Given the description of an element on the screen output the (x, y) to click on. 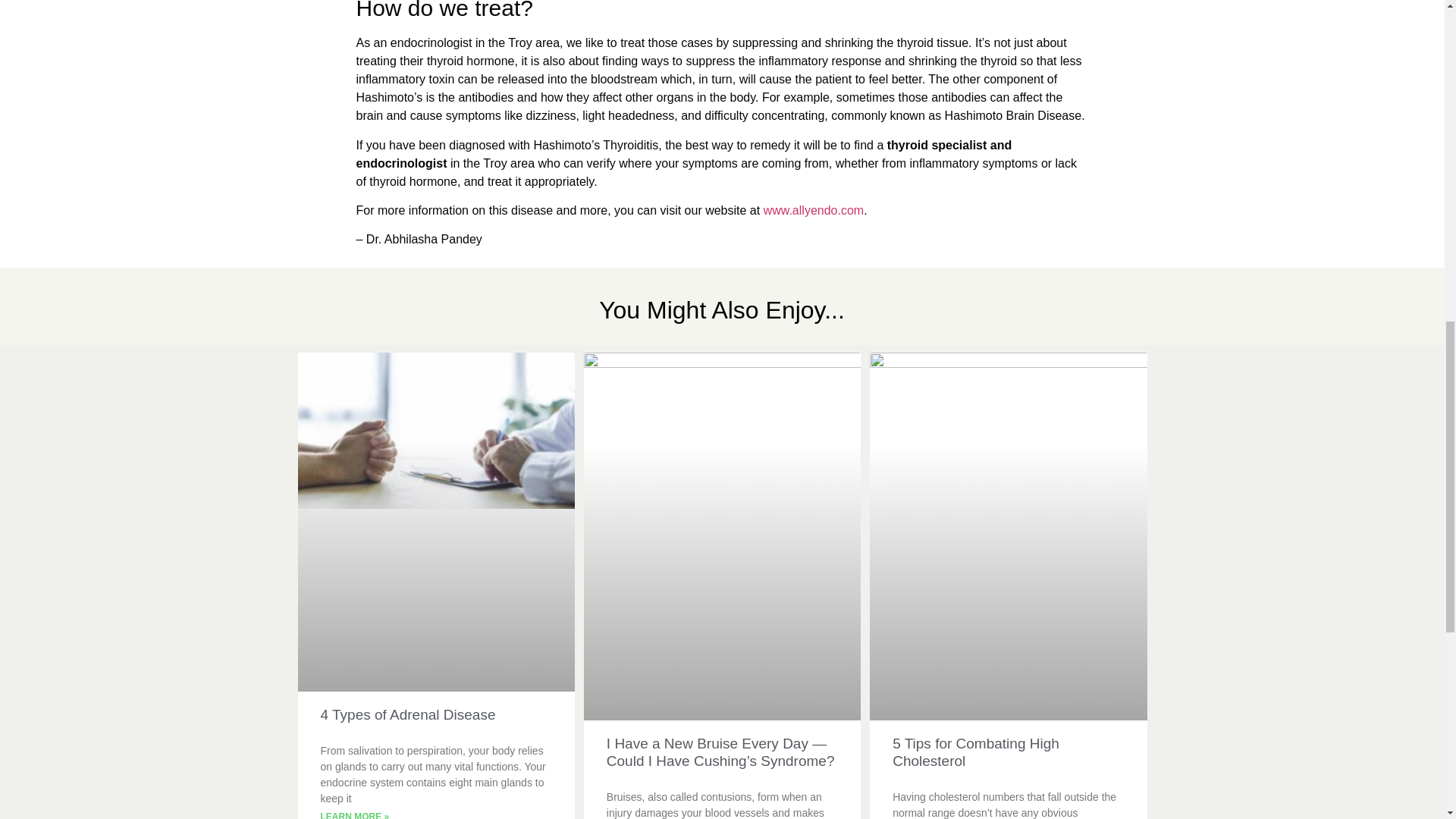
4 Types of Adrenal Disease (407, 714)
www.allyendo.com (813, 210)
5 Tips for Combating High Cholesterol (975, 752)
